Given the description of an element on the screen output the (x, y) to click on. 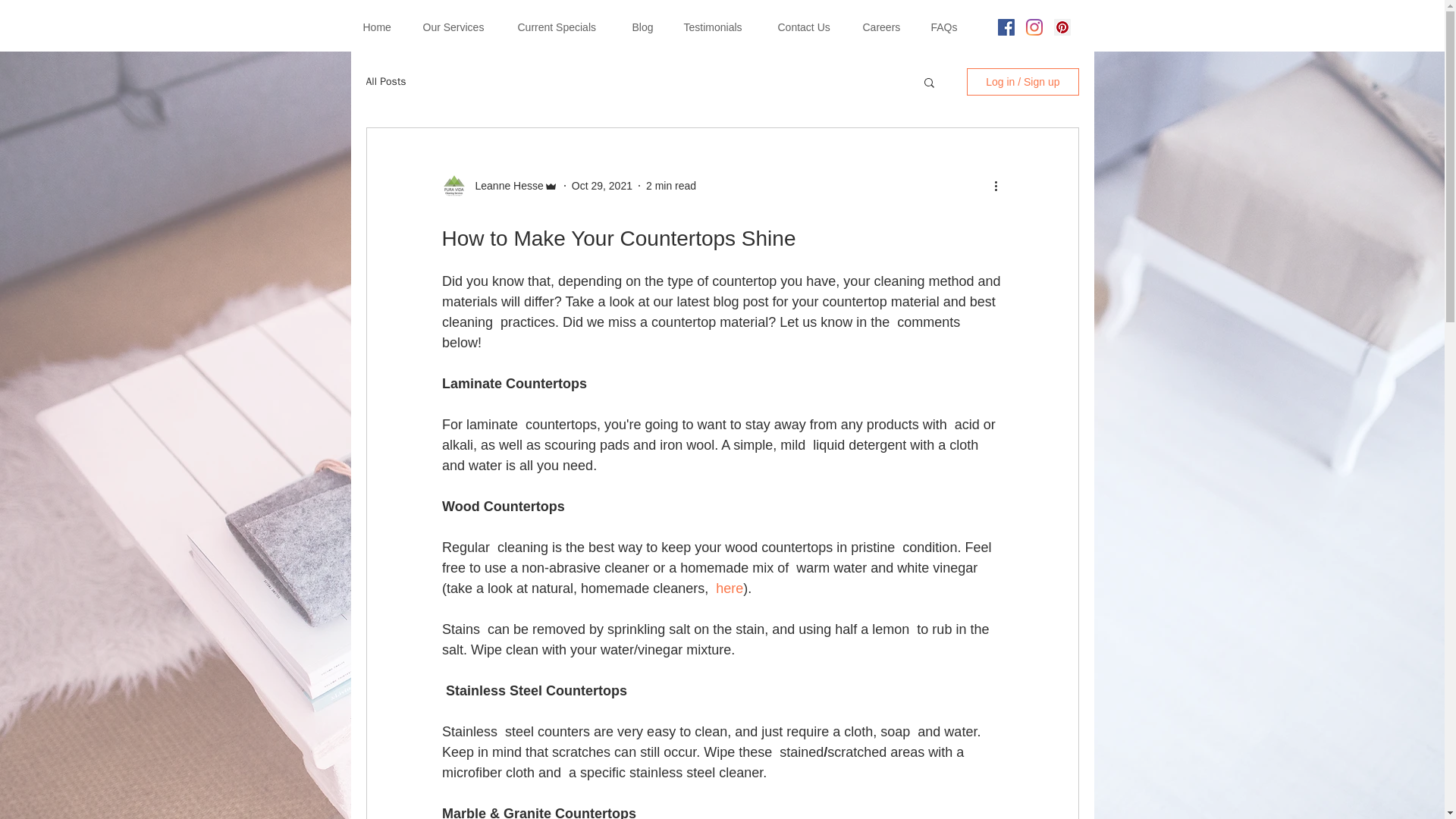
FAQs (946, 26)
Oct 29, 2021 (601, 184)
Testimonials (718, 26)
Our Services (457, 26)
All Posts (385, 81)
here (729, 588)
Leanne Hesse (504, 185)
Home (382, 26)
2 min read (670, 184)
Blog (645, 26)
